Given the description of an element on the screen output the (x, y) to click on. 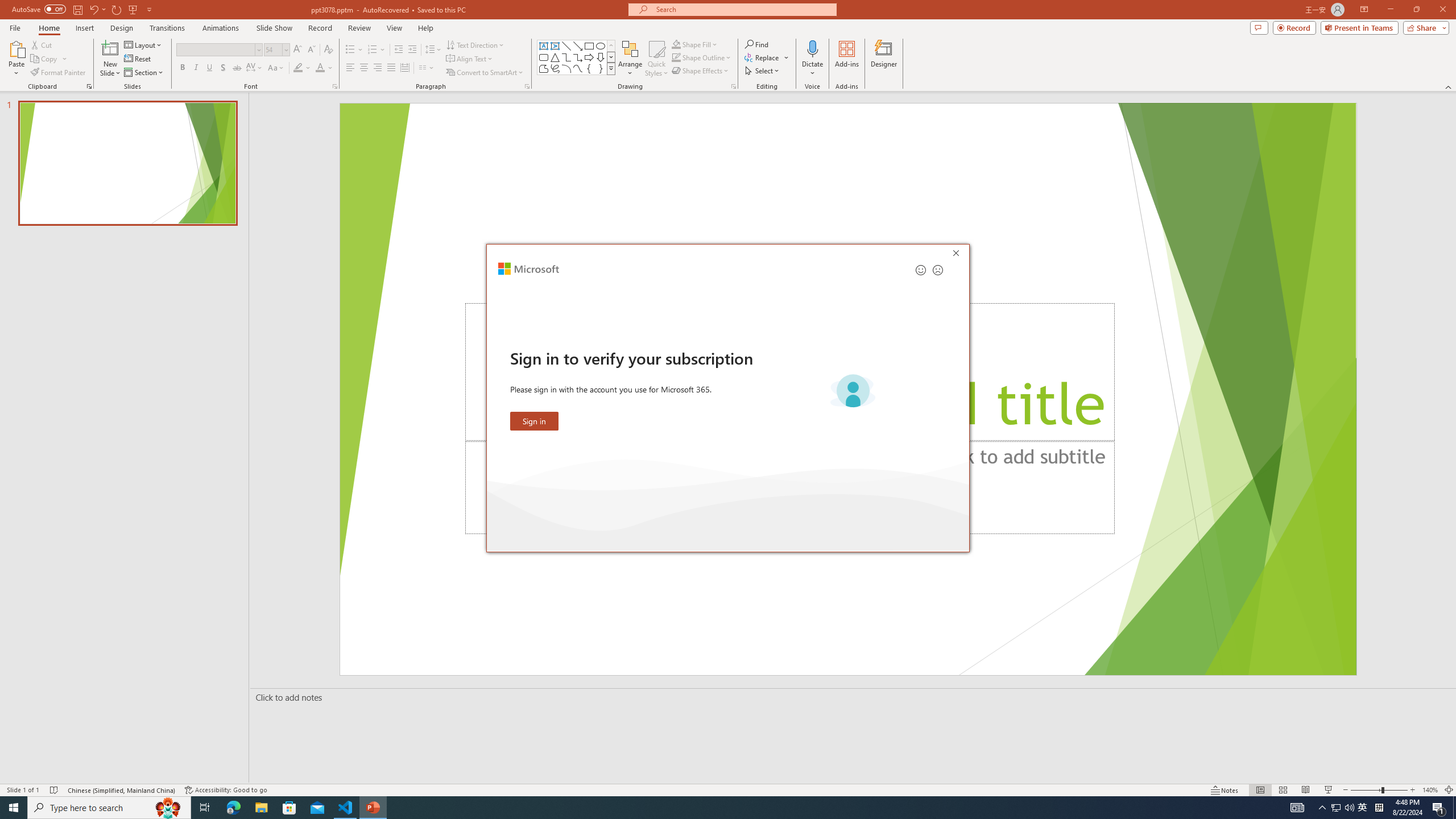
Curve (577, 68)
Connector: Elbow (566, 57)
Freeform: Shape (543, 68)
Increase Indent (412, 49)
Align Right (377, 67)
Text Highlight Color Yellow (297, 67)
Clear Formatting (327, 49)
Send a frown for feedback (937, 269)
